Given the description of an element on the screen output the (x, y) to click on. 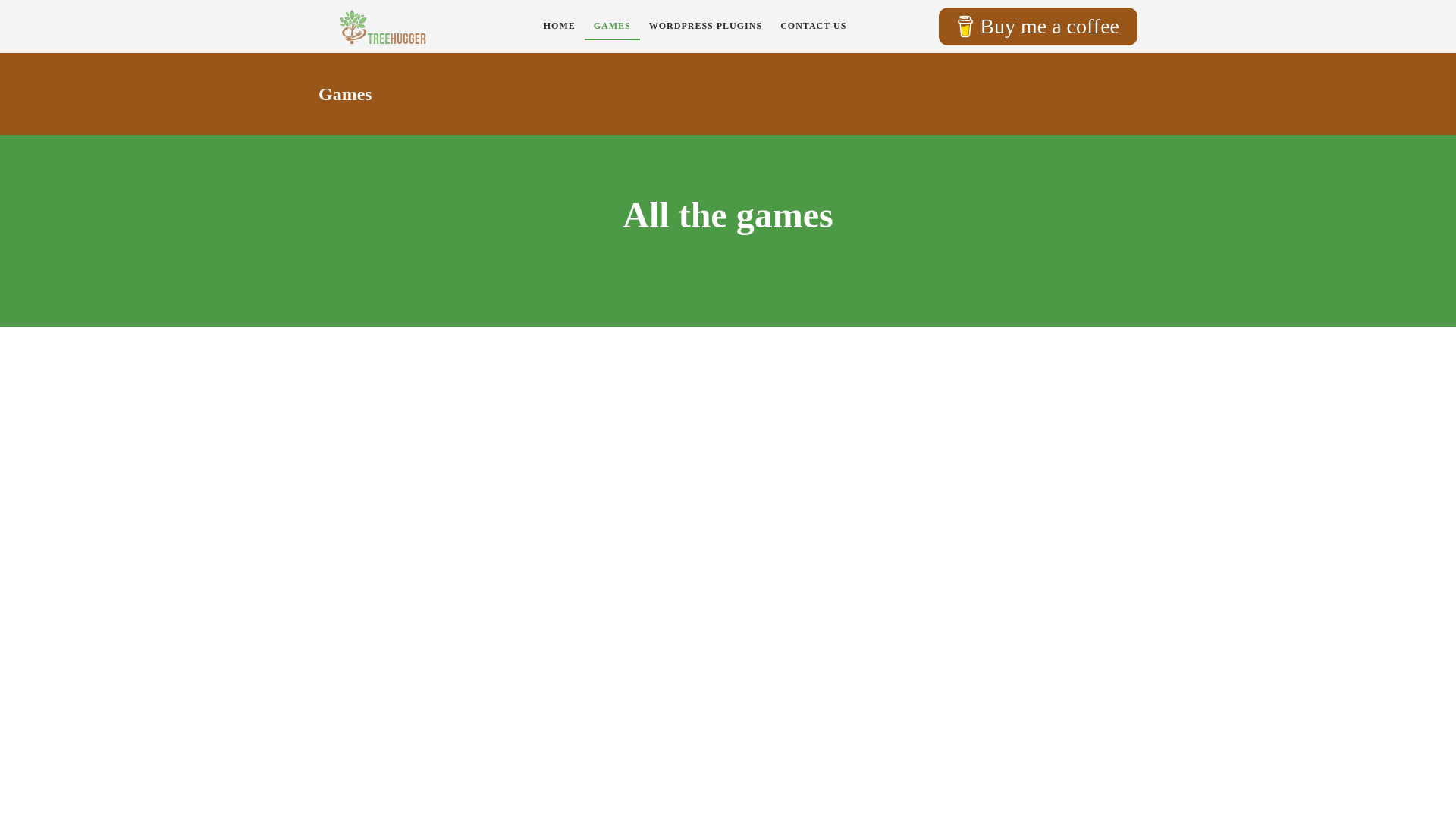
GAMES (612, 26)
HOME (559, 26)
WORDPRESS PLUGINS (705, 26)
CONTACT US (813, 26)
Buy me a coffee (1038, 26)
